Given the description of an element on the screen output the (x, y) to click on. 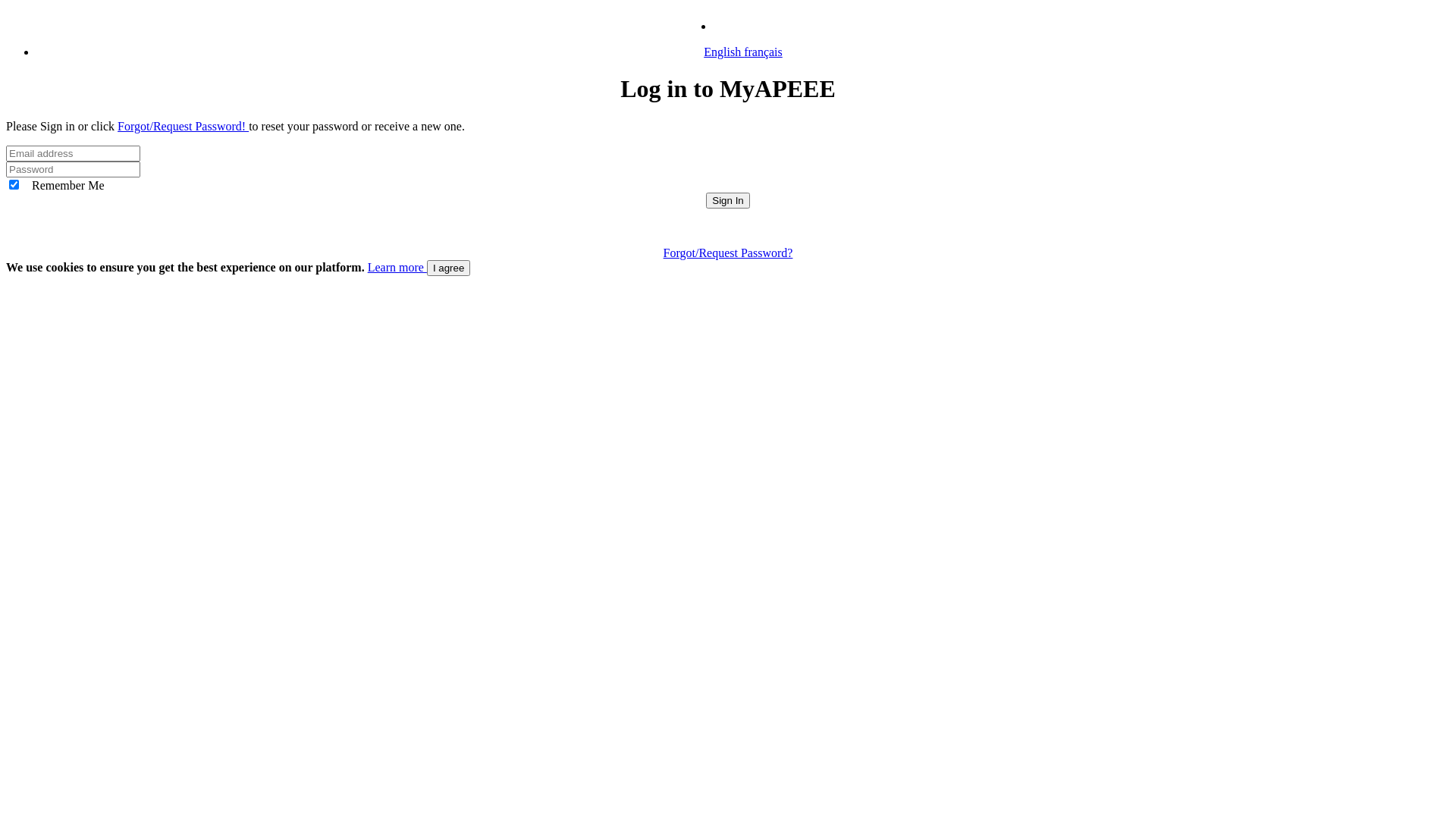
Sign In Element type: text (727, 200)
Forgot/Request Password? Element type: text (728, 252)
Learn more Element type: text (396, 266)
Forgot/Request Password! Element type: text (182, 125)
I agree Element type: text (448, 268)
English Element type: text (723, 51)
English Element type: text (736, 25)
